Given the description of an element on the screen output the (x, y) to click on. 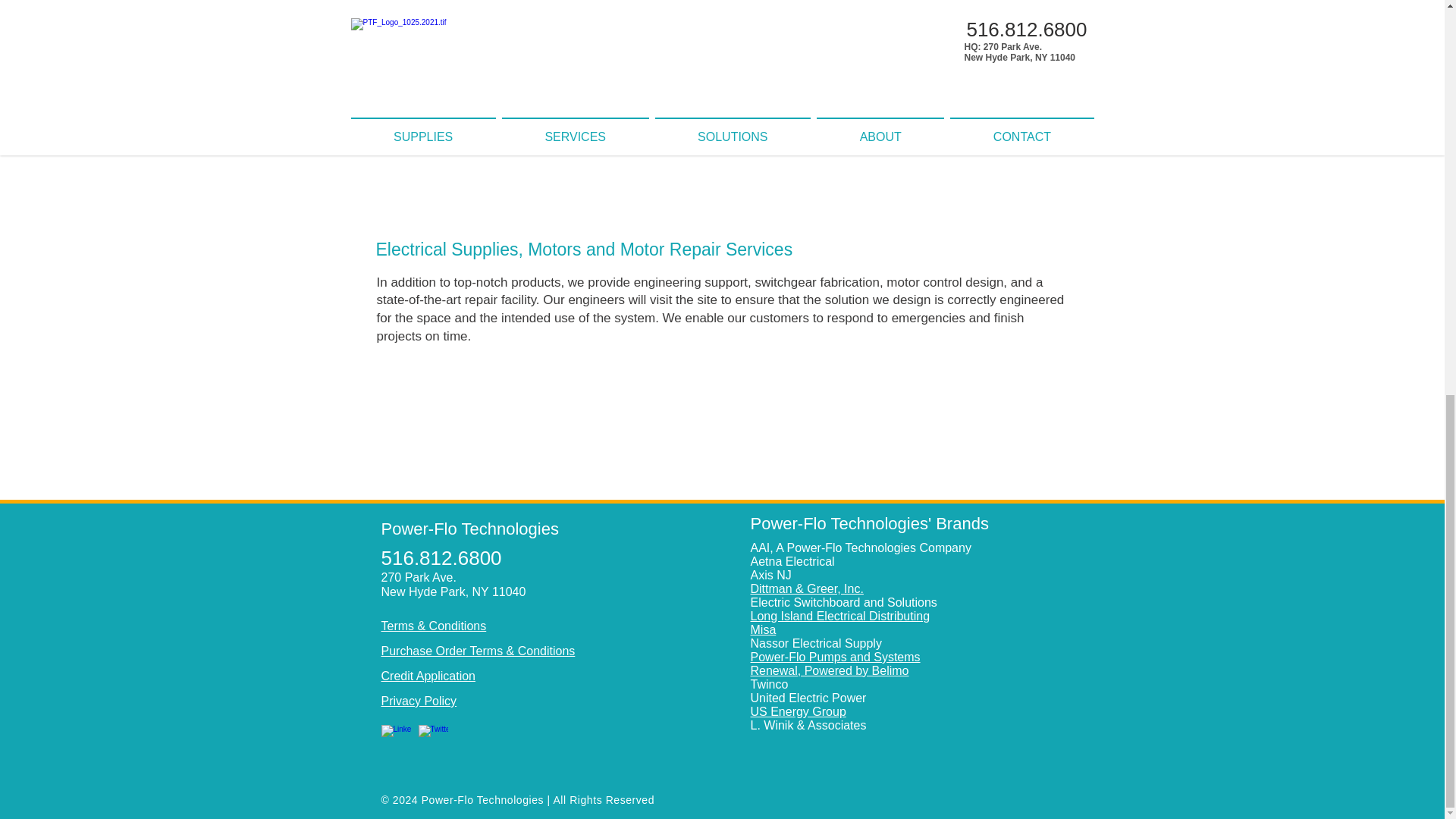
Credit Application (428, 675)
cnc-nj-2.png (907, 106)
Privacy Policy (418, 700)
